Given the description of an element on the screen output the (x, y) to click on. 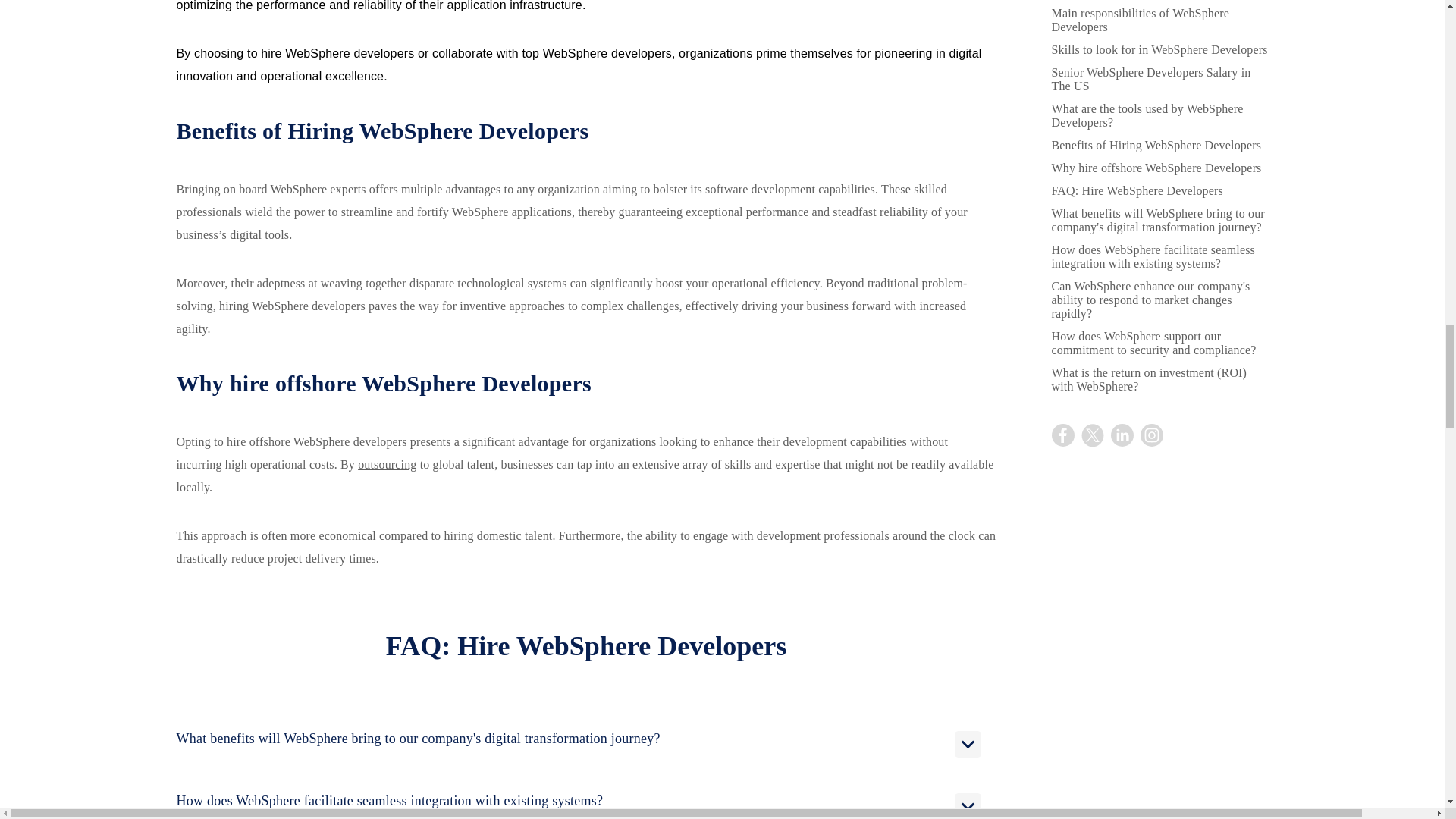
outsourcing (387, 463)
